Given the description of an element on the screen output the (x, y) to click on. 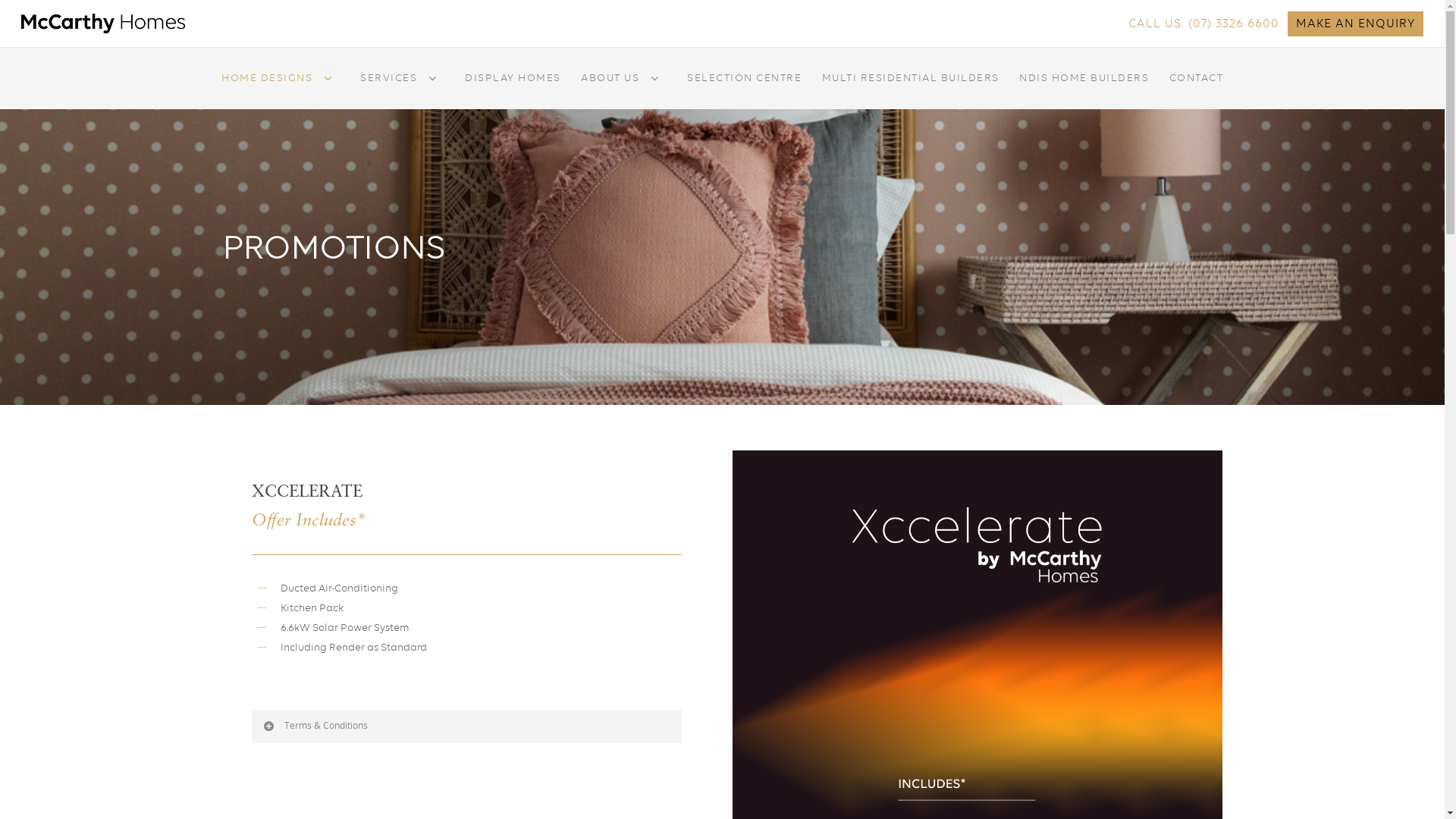
CONTACT Element type: text (1196, 88)
CALL US: (07) 3326 6600 Element type: text (1203, 23)
MAKE AN ENQUIRY Element type: text (1355, 23)
Terms & Conditions Element type: text (466, 726)
SELECTION CENTRE Element type: text (744, 88)
NDIS HOME BUILDERS Element type: text (1083, 88)
HOME DESIGNS Element type: text (280, 88)
ABOUT US Element type: text (623, 88)
DISPLAY HOMES Element type: text (512, 88)
SERVICES Element type: text (402, 88)
MULTI RESIDENTIAL BUILDERS Element type: text (910, 88)
